Given the description of an element on the screen output the (x, y) to click on. 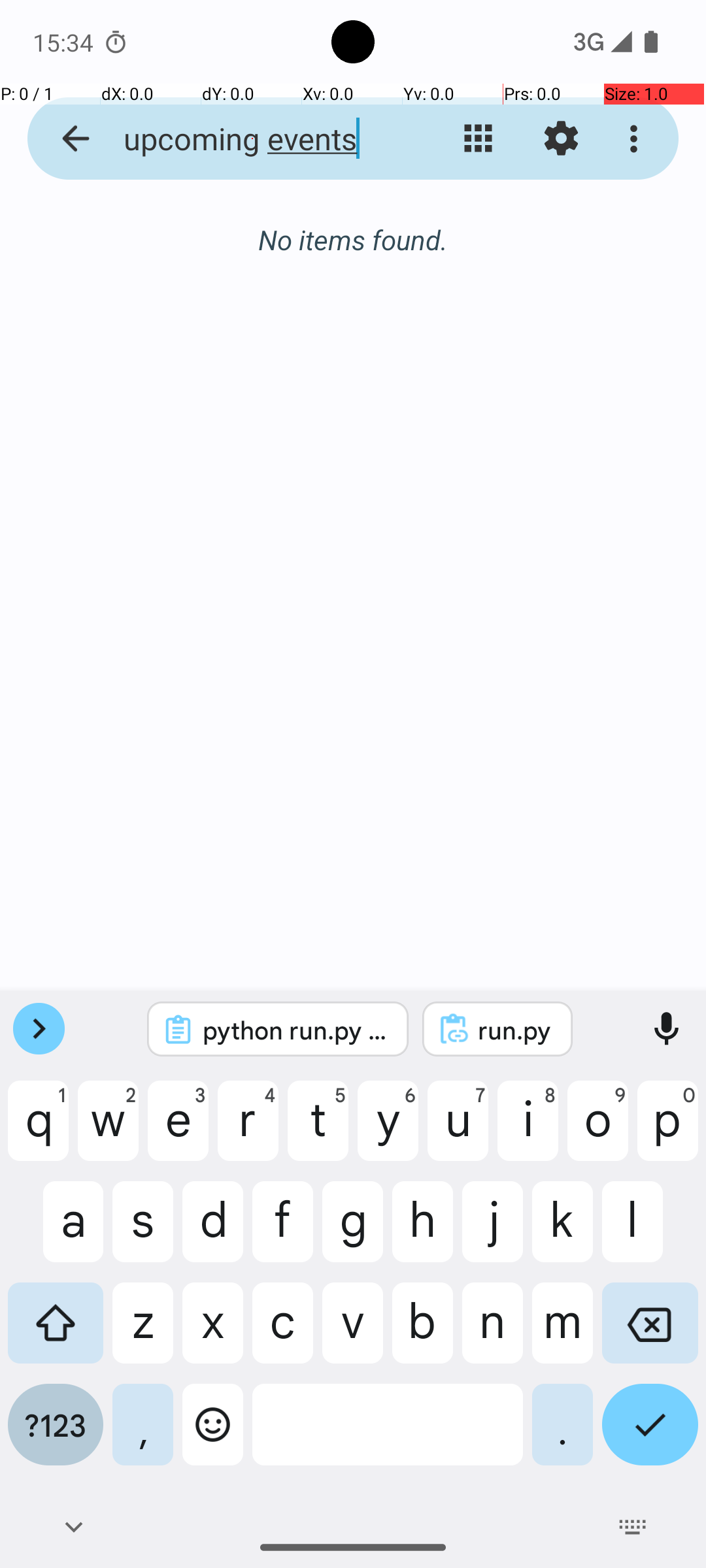
upcoming events Element type: android.widget.EditText (252, 138)
python run.py \   --suite_family=android_world \   --agent_name=t3a_gpt4 \   --perform_emulator_setup \   --tasks=ContactsAddContact,ClockStopWatchRunning \  # Optional: Just run on a subset. Element type: android.widget.TextView (294, 1029)
run.py Element type: android.widget.TextView (514, 1029)
